Given the description of an element on the screen output the (x, y) to click on. 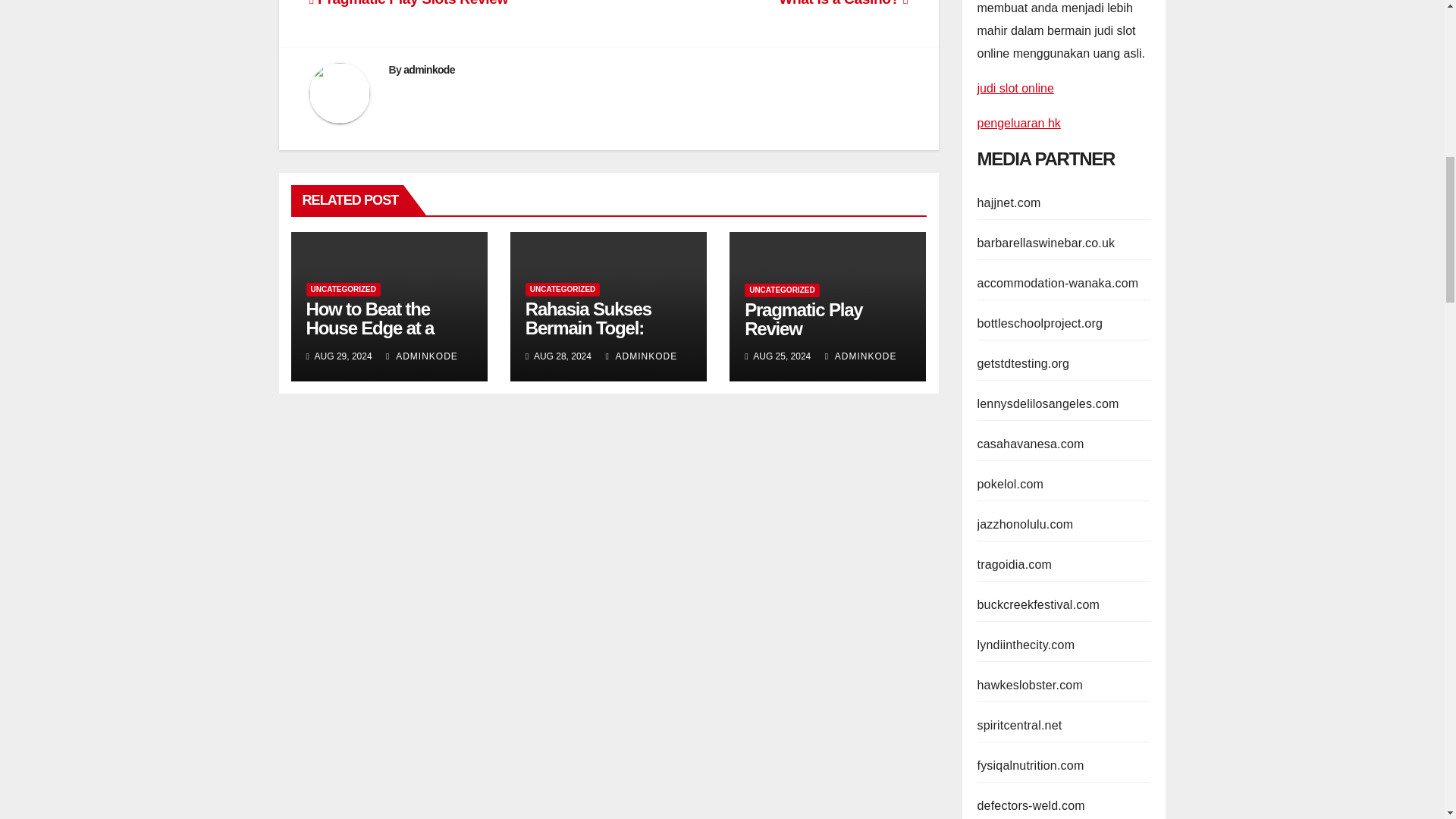
UNCATEGORIZED (562, 289)
UNCATEGORIZED (781, 290)
UNCATEGORIZED (342, 289)
ADMINKODE (860, 356)
How to Beat the House Edge at a Casino (369, 327)
adminkode (428, 69)
Pragmatic Play Slots Review (408, 3)
Permalink to: How to Beat the House Edge at a Casino (369, 327)
